Given the description of an element on the screen output the (x, y) to click on. 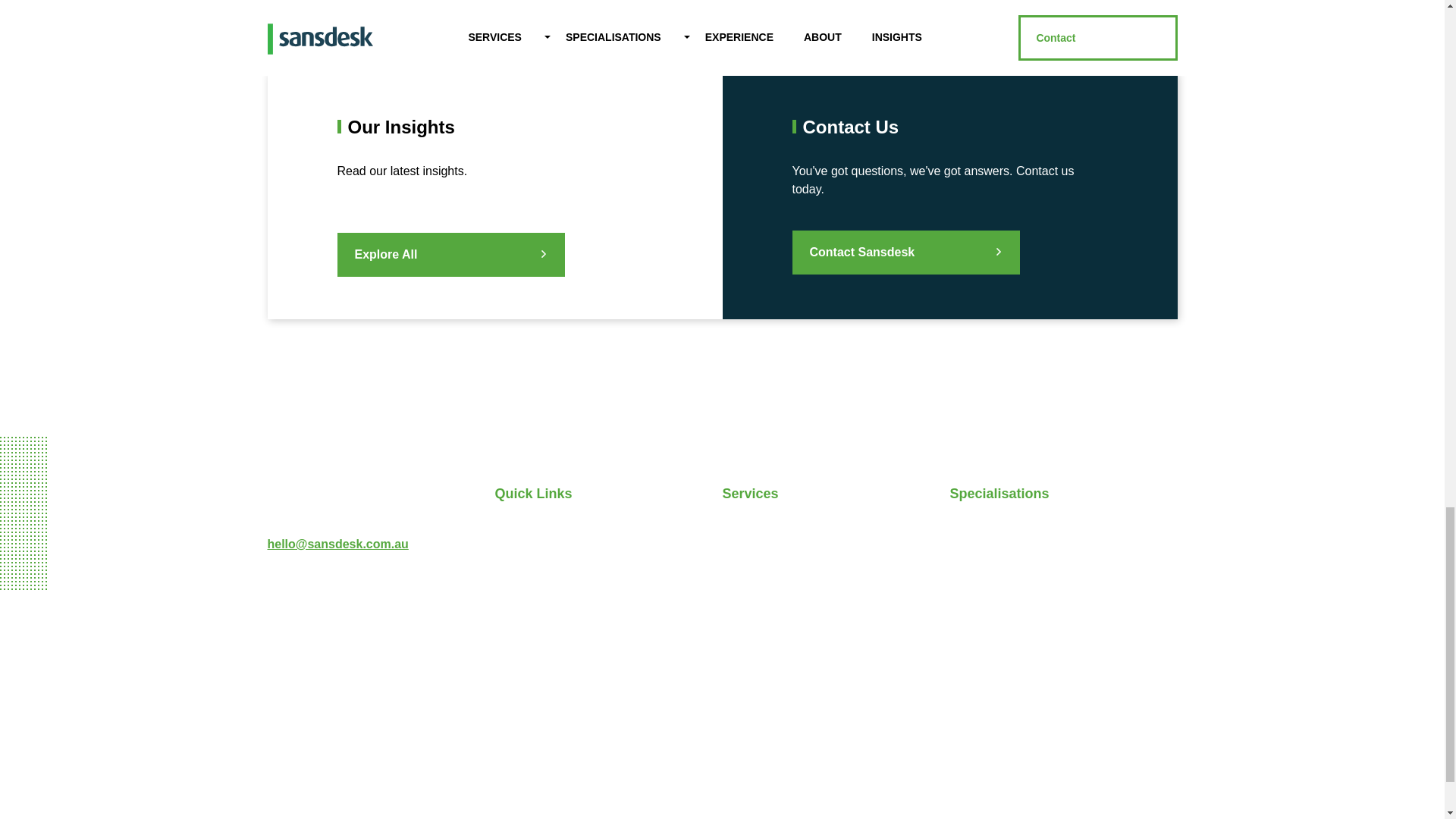
Finance Outsourcing (778, 628)
International Business (1010, 536)
Contact (516, 659)
Insights (516, 628)
Home (510, 536)
Explore All (450, 254)
About (511, 567)
Globally Mobile Consultants (1025, 689)
Licensing (976, 598)
Invest In Australia (997, 628)
Fashion (970, 567)
Experience (524, 598)
CFO Advisory (759, 567)
Tax Advisory (757, 536)
Private Client Services (783, 598)
